Given the description of an element on the screen output the (x, y) to click on. 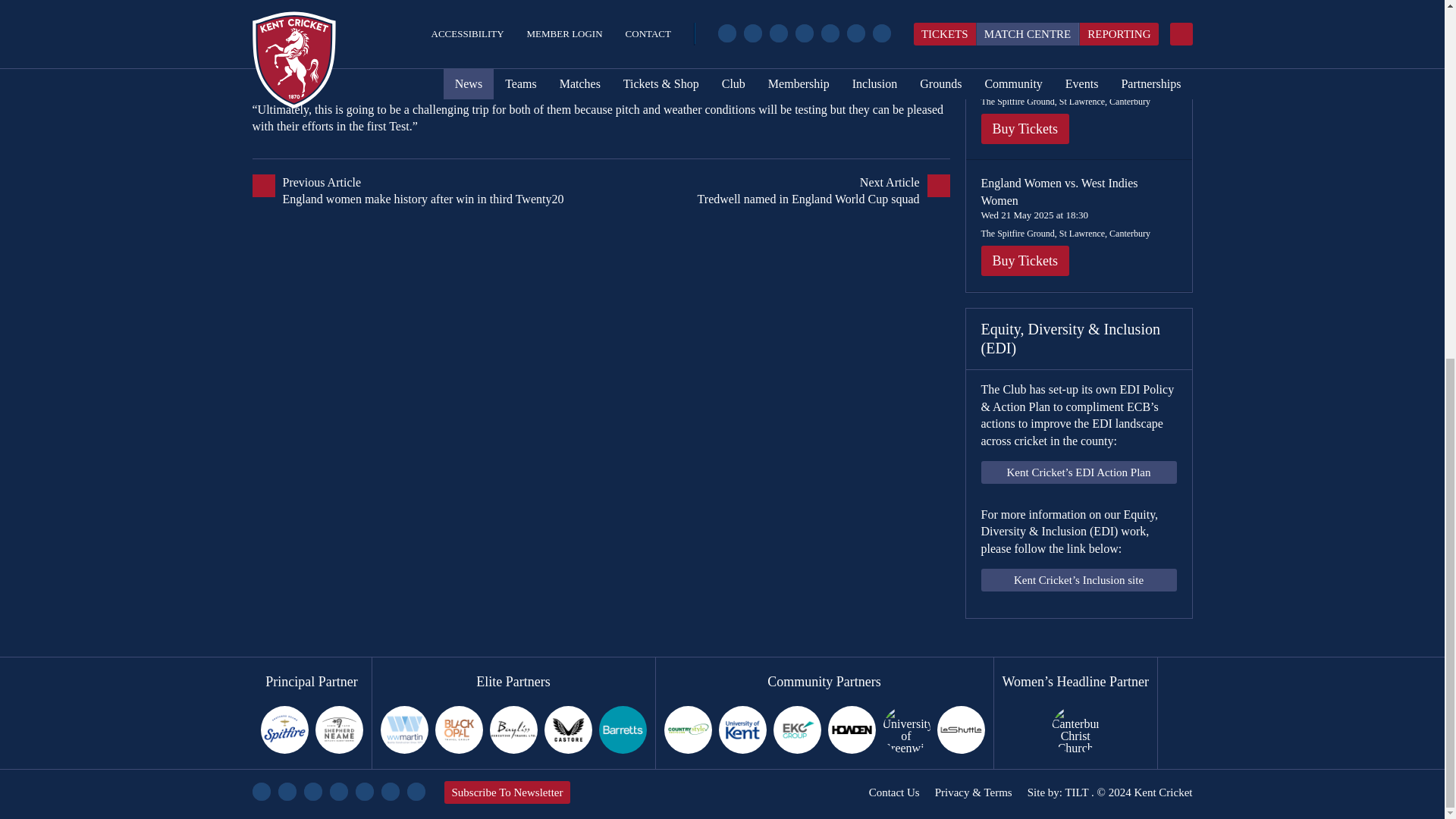
Web Design Kent (1075, 792)
Previous Article (425, 191)
Next Article (774, 191)
